Given the description of an element on the screen output the (x, y) to click on. 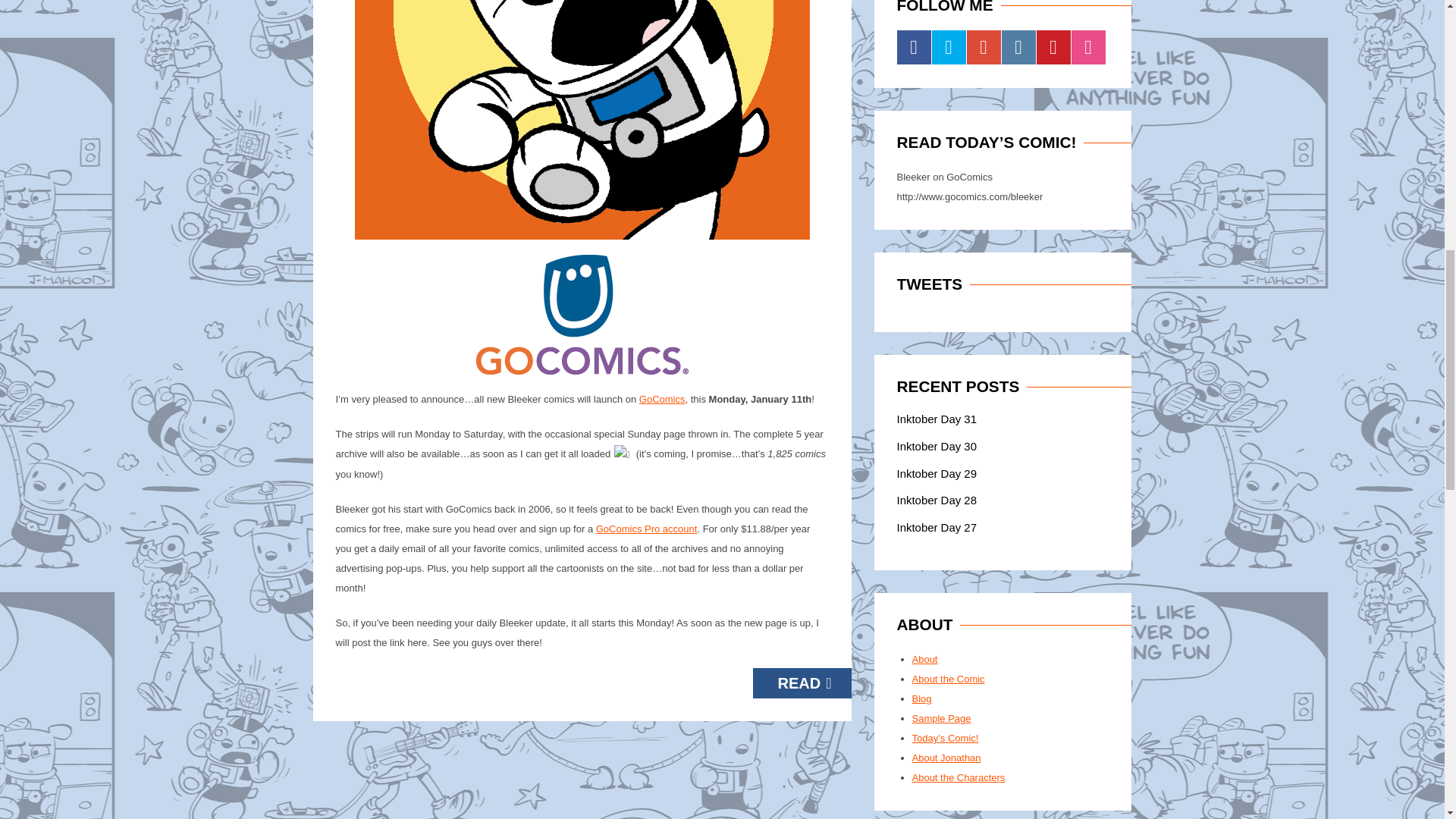
Inktober Day 28 (935, 499)
Blog (921, 698)
Inktober Day 29 (935, 472)
About (924, 659)
About the Characters (957, 777)
Inktober Day 31 (935, 418)
GoComics Pro account (646, 528)
Inktober Day 27 (935, 526)
Inktober Day 30 (935, 445)
About Jonathan (945, 757)
